Given the description of an element on the screen output the (x, y) to click on. 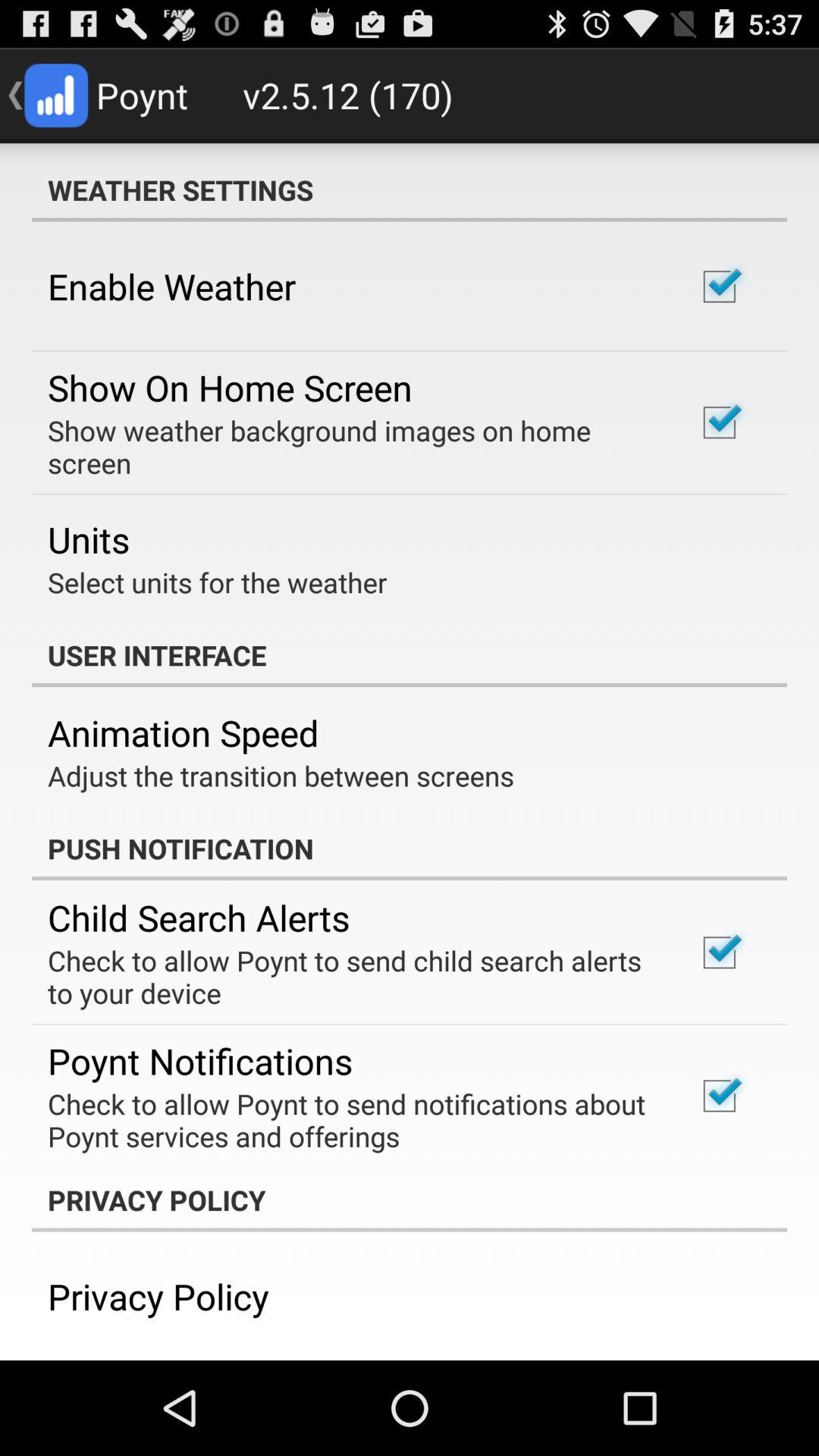
scroll until the user interface icon (409, 655)
